Given the description of an element on the screen output the (x, y) to click on. 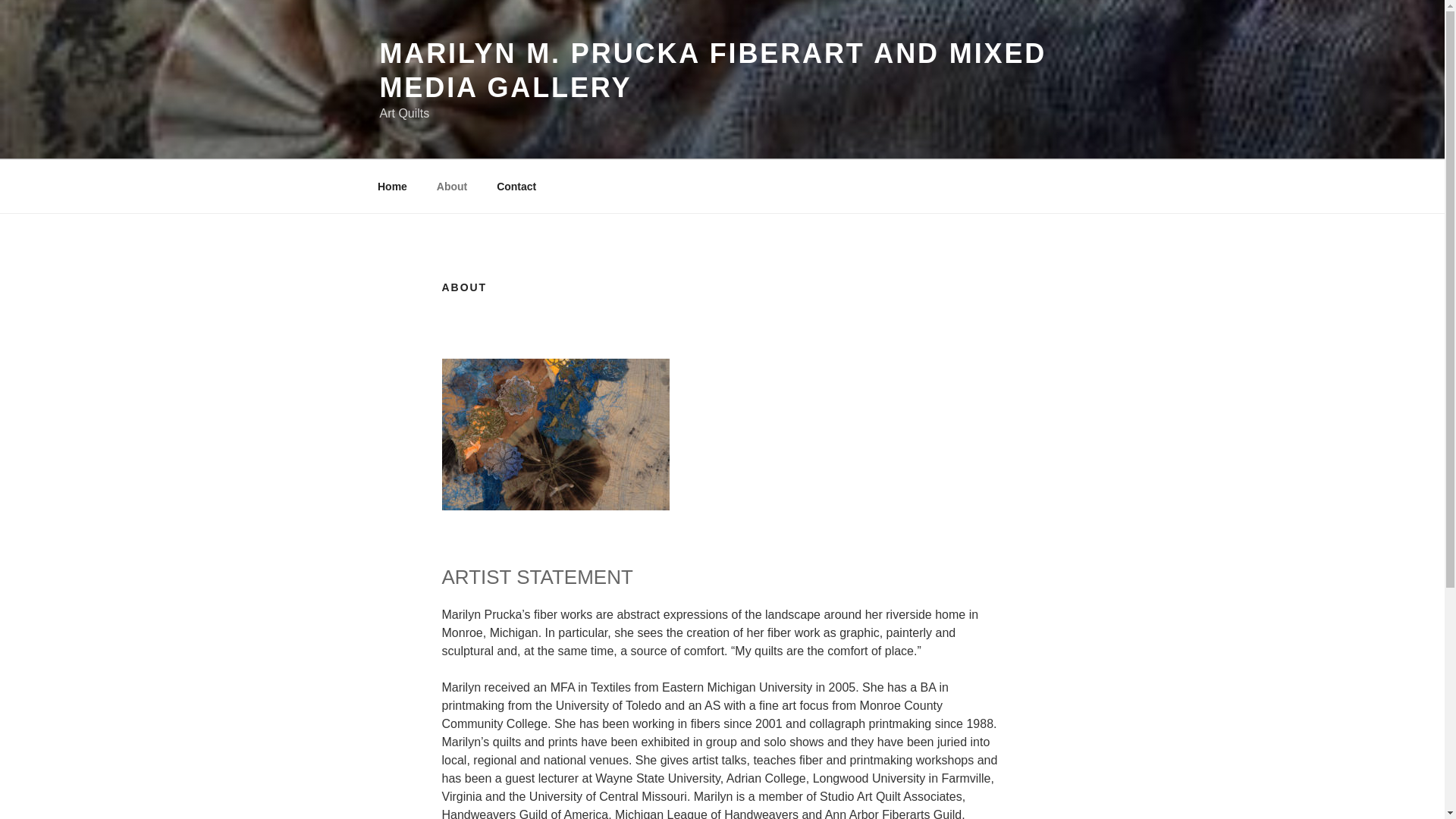
Contact (516, 186)
MARILYN M. PRUCKA FIBERART AND MIXED MEDIA GALLERY (712, 70)
About (451, 186)
Home (392, 186)
